Given the description of an element on the screen output the (x, y) to click on. 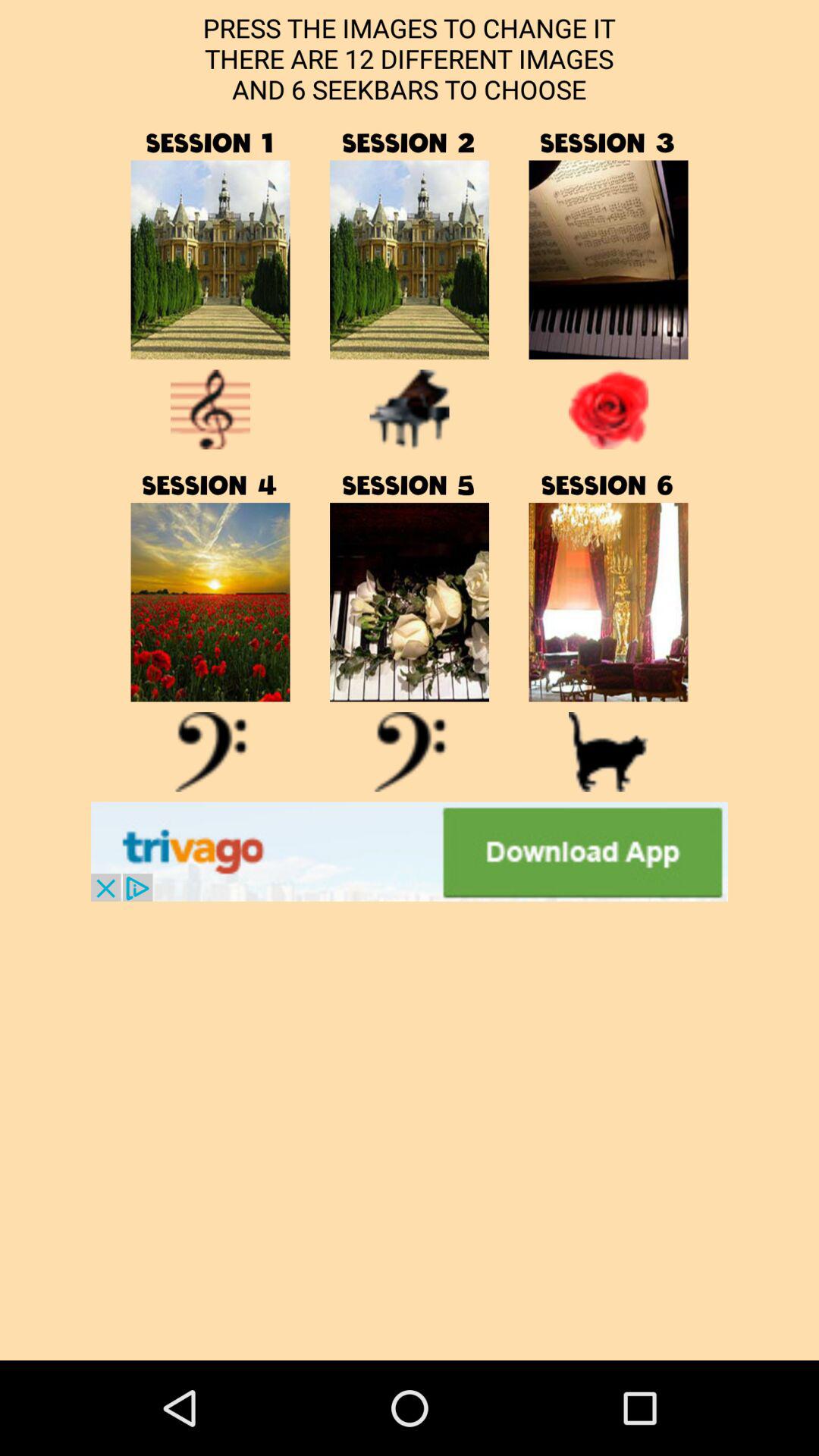
open (210, 601)
